Given the description of an element on the screen output the (x, y) to click on. 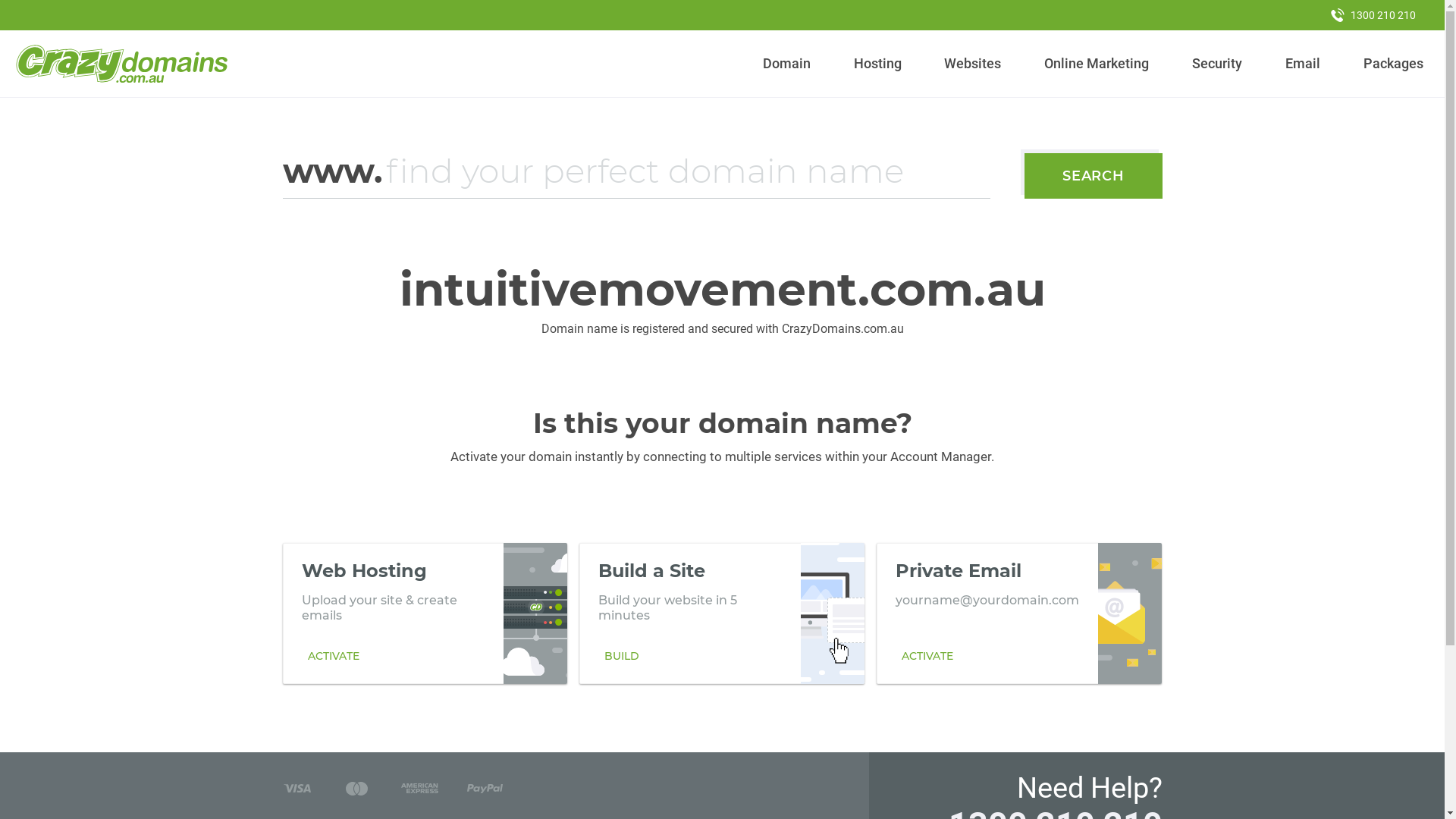
Hosting Element type: text (877, 63)
SEARCH Element type: text (1092, 175)
Domain Element type: text (786, 63)
Private Email
yourname@yourdomain.com
ACTIVATE Element type: text (1018, 613)
1300 210 210 Element type: text (1373, 15)
Web Hosting
Upload your site & create emails
ACTIVATE Element type: text (424, 613)
Online Marketing Element type: text (1096, 63)
Websites Element type: text (972, 63)
Packages Element type: text (1392, 63)
Security Element type: text (1217, 63)
Email Element type: text (1302, 63)
Build a Site
Build your website in 5 minutes
BUILD Element type: text (721, 613)
